Given the description of an element on the screen output the (x, y) to click on. 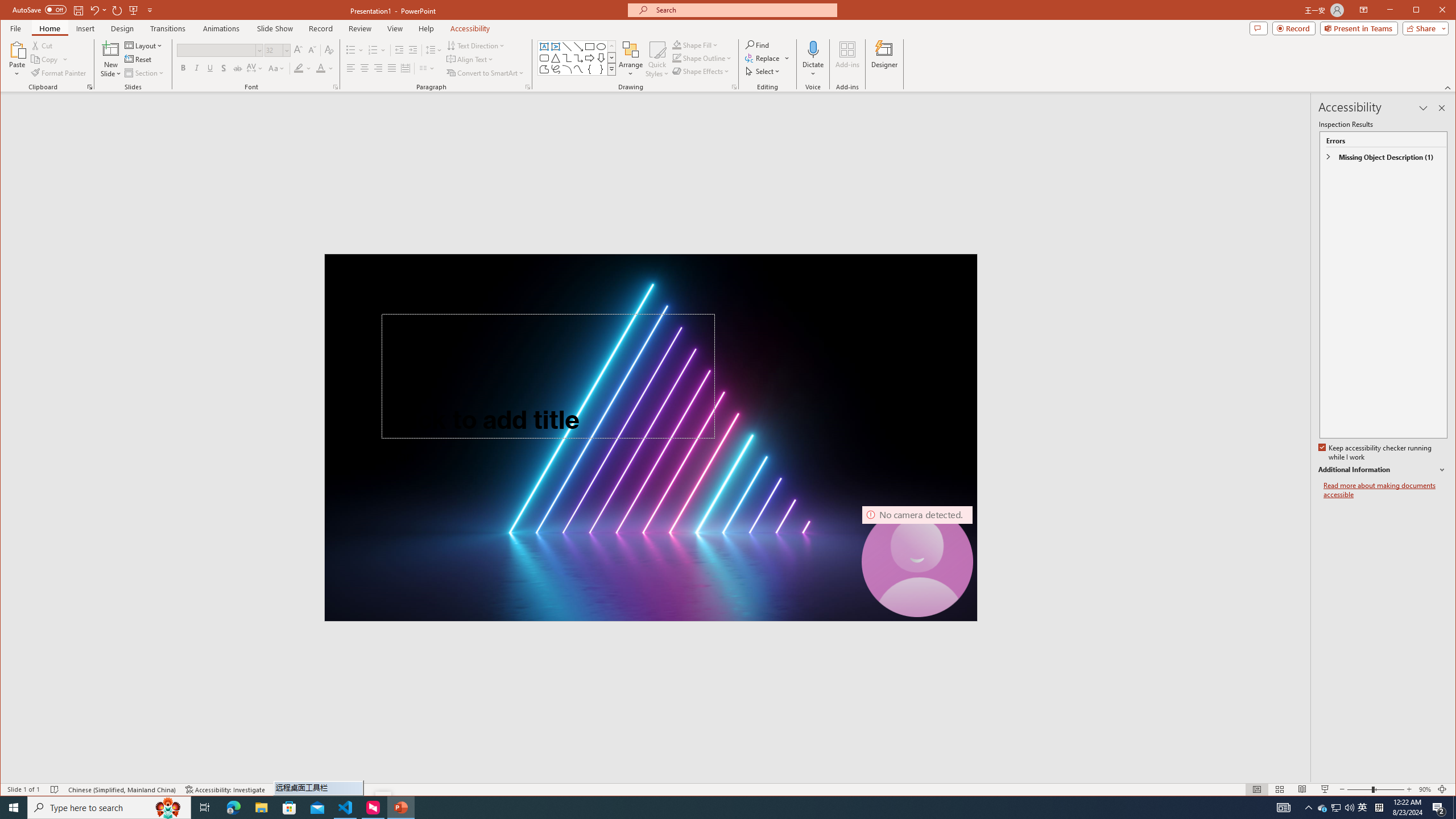
Font... (335, 86)
PowerPoint - 1 running window (400, 807)
Read more about making documents accessible (1385, 489)
Font Color Red (320, 68)
File Explorer (261, 807)
